Given the description of an element on the screen output the (x, y) to click on. 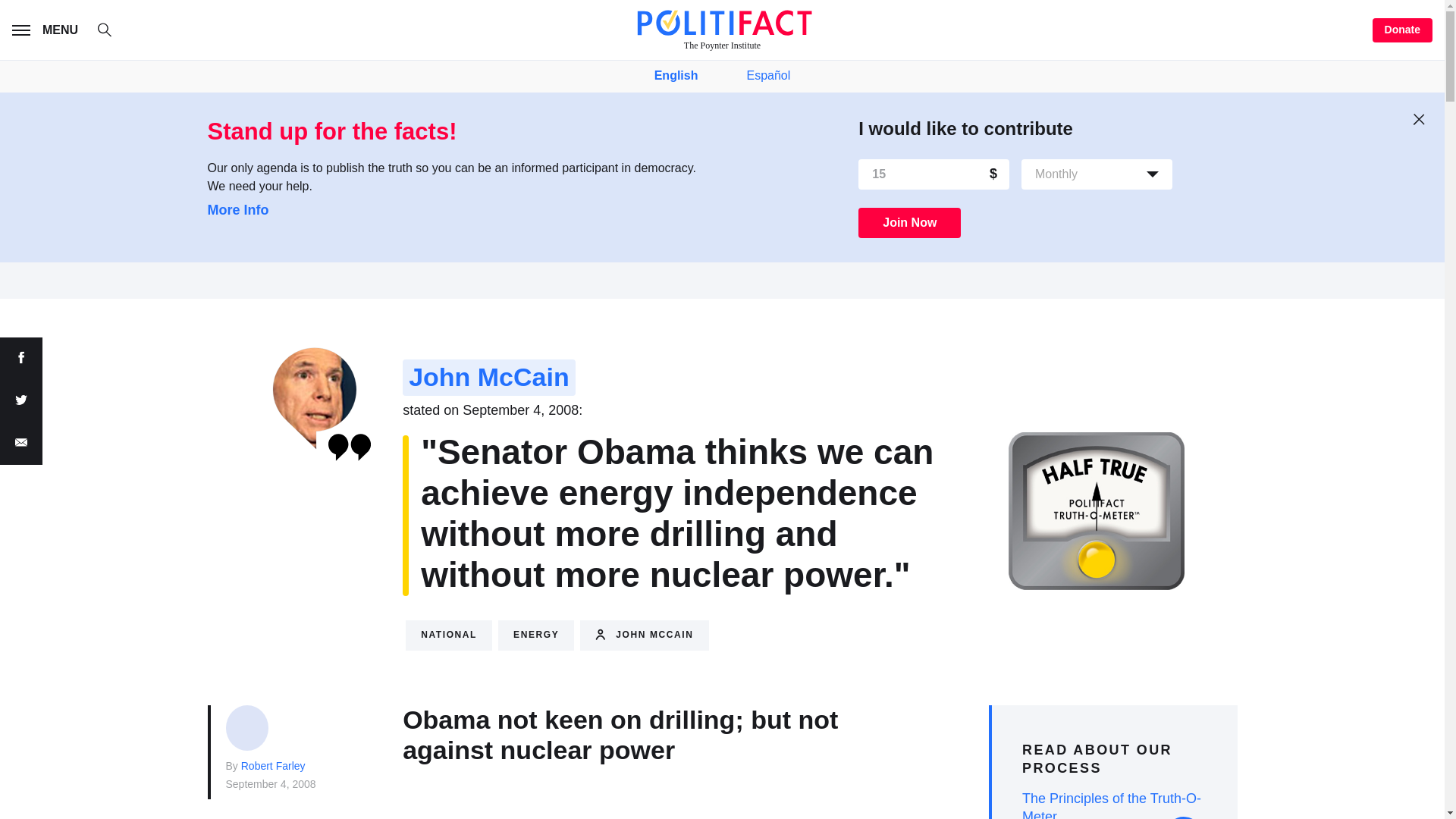
Search (111, 31)
Energy (535, 634)
National (449, 634)
Donate (1402, 30)
MENU (47, 30)
John McCain (643, 634)
The Poynter Institute (721, 29)
John McCain (489, 377)
